Given the description of an element on the screen output the (x, y) to click on. 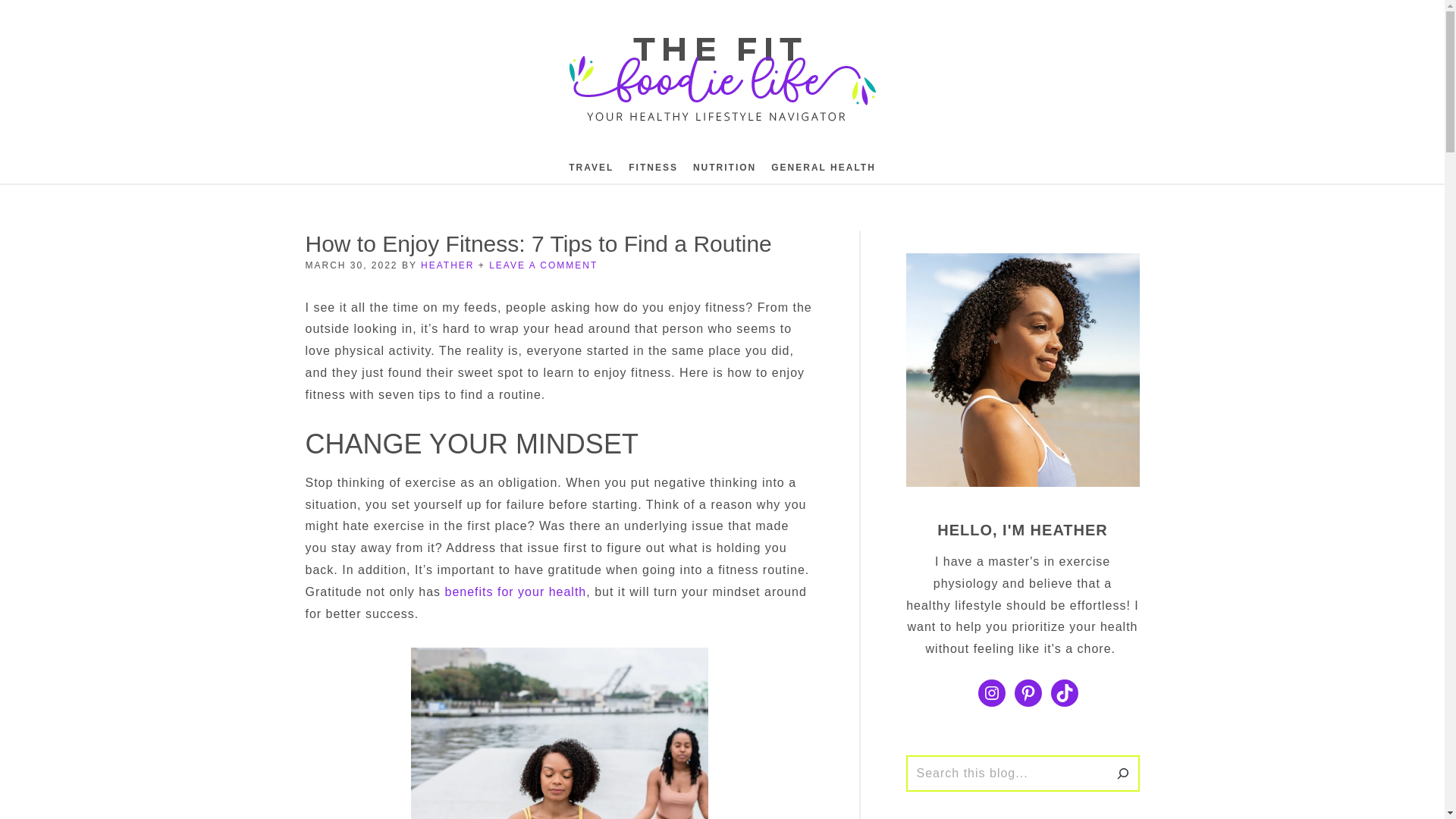
benefits for your health (515, 591)
FITNESS (653, 167)
TRAVEL (590, 167)
The Fit Foodie Life (722, 79)
GENERAL HEALTH (822, 167)
NUTRITION (723, 167)
LEAVE A COMMENT (542, 265)
HEATHER (447, 265)
